Given the description of an element on the screen output the (x, y) to click on. 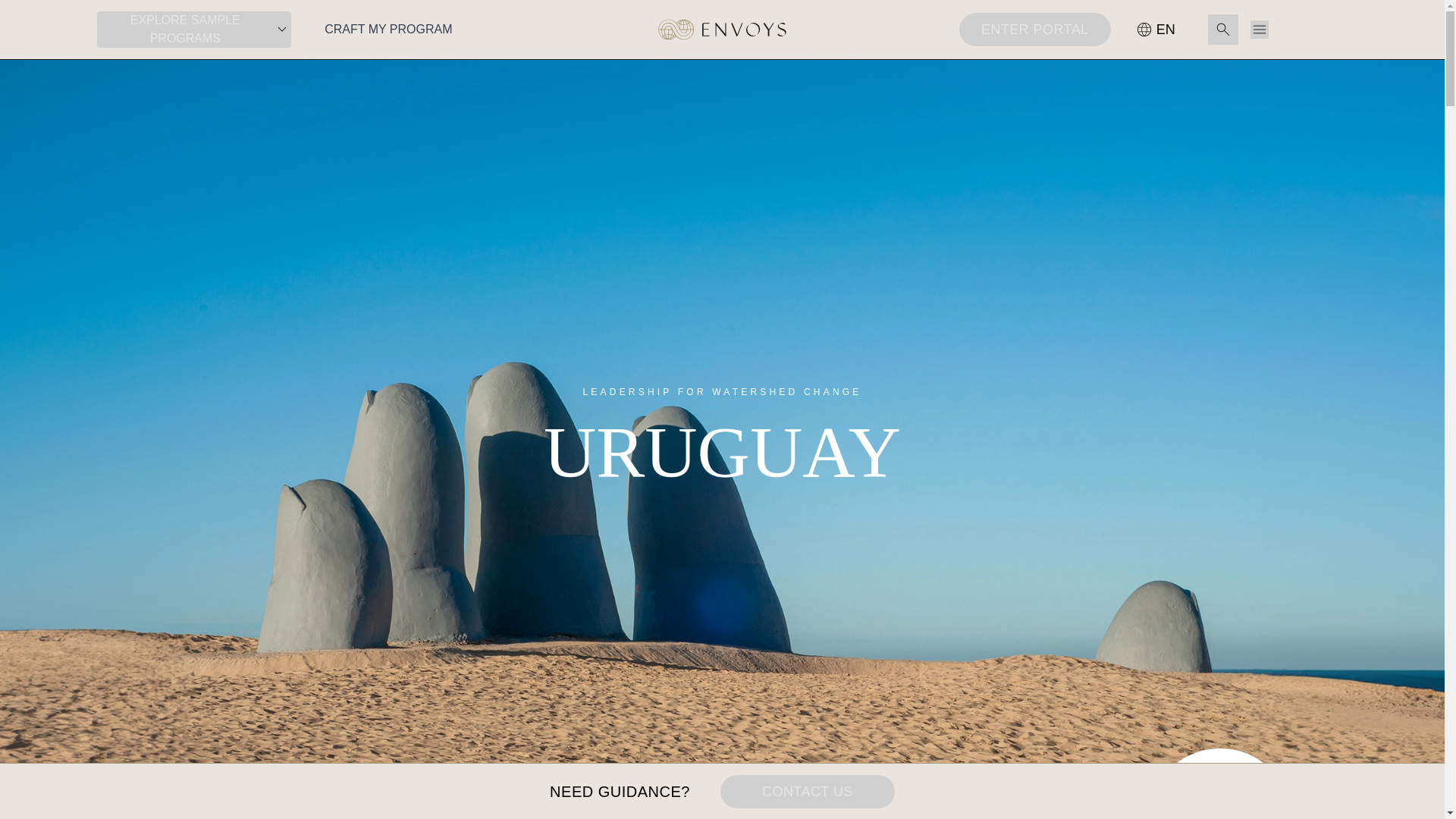
EXPLORE SAMPLE PROGRAMS (194, 29)
ENTER PORTAL (1034, 29)
CRAFT MY PROGRAM (387, 29)
